Given the description of an element on the screen output the (x, y) to click on. 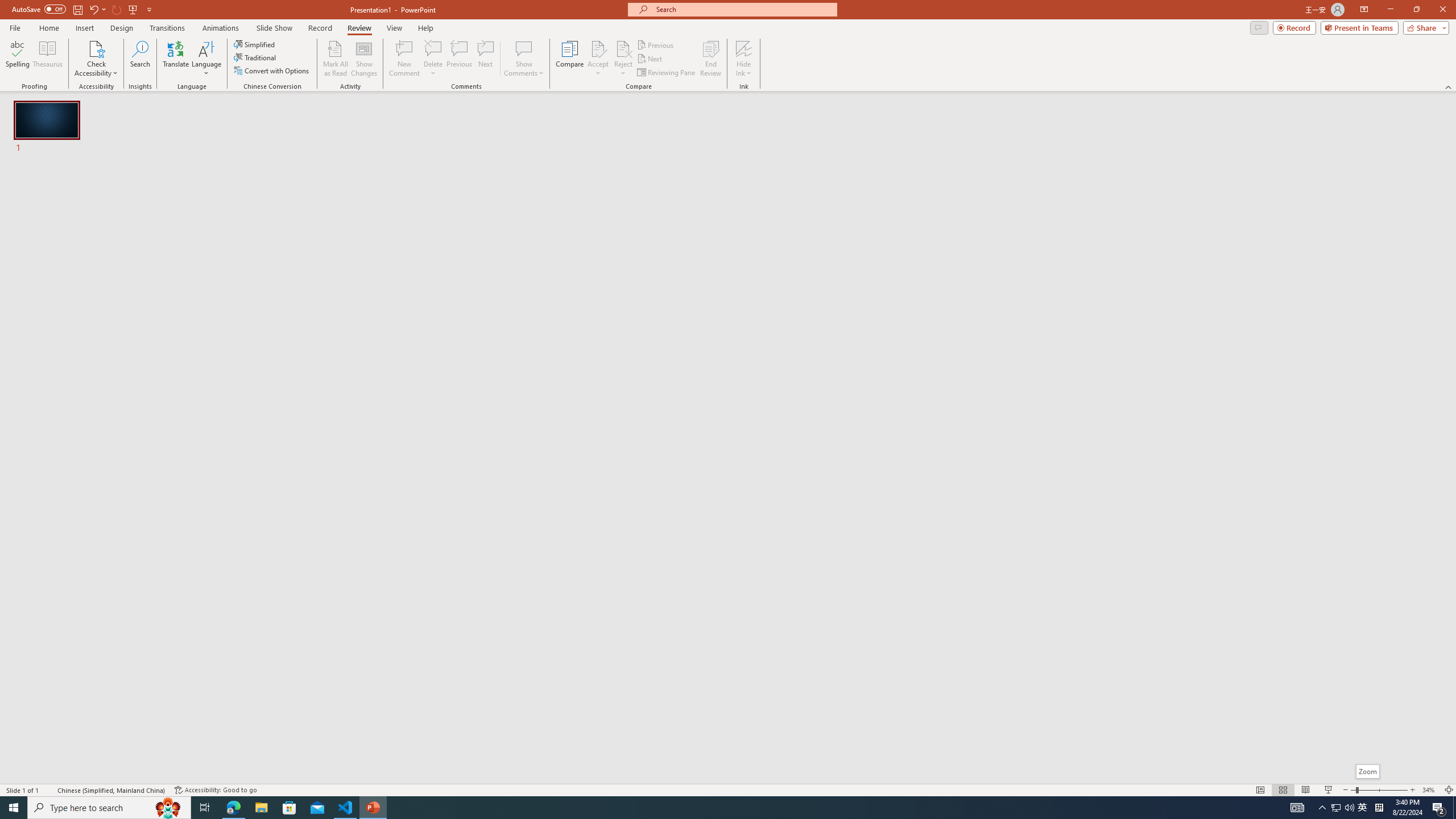
Reviewing Pane (666, 72)
Translate (175, 58)
Reject (622, 58)
